Given the description of an element on the screen output the (x, y) to click on. 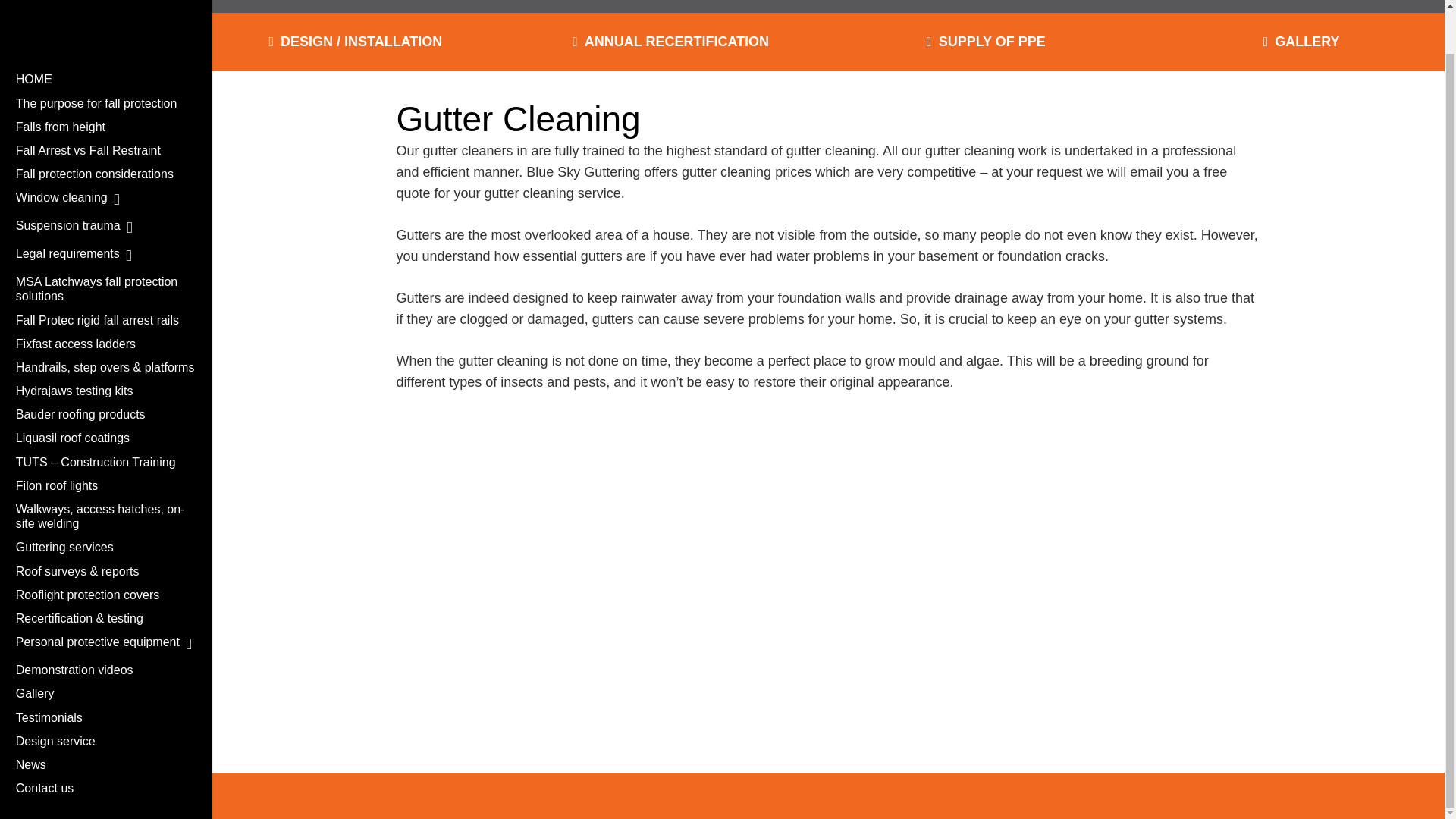
Hydrajaws testing kits (106, 390)
Personal protective equipment (106, 643)
MSA Latchways fall protection solutions (106, 288)
Bauder roofing products (106, 413)
HOME (106, 78)
Rooflight protection covers (106, 594)
Gallery (1300, 41)
Legal requirements (106, 255)
Liquasil roof coatings (106, 437)
Fixfast access ladders (106, 343)
